Given the description of an element on the screen output the (x, y) to click on. 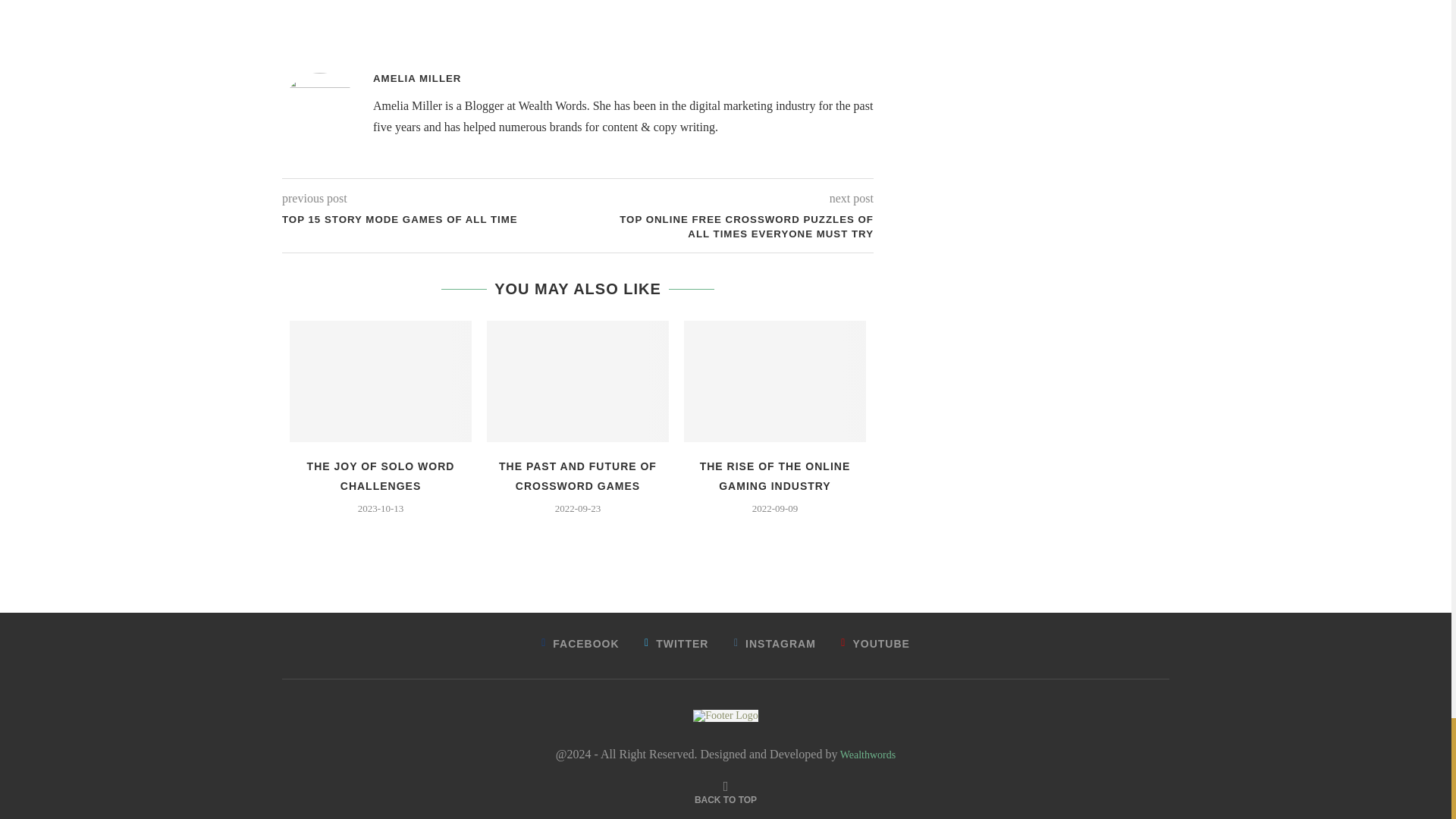
The Past and Future of Crossword Games (577, 381)
THE RISE OF THE ONLINE GAMING INDUSTRY (775, 476)
THE PAST AND FUTURE OF CROSSWORD GAMES (577, 476)
The Rise of the Online Gaming Industry (775, 381)
The Joy of Solo Word Challenges (380, 381)
TOP 15 STORY MODE GAMES OF ALL TIME (430, 219)
THE JOY OF SOLO WORD CHALLENGES (380, 476)
